Given the description of an element on the screen output the (x, y) to click on. 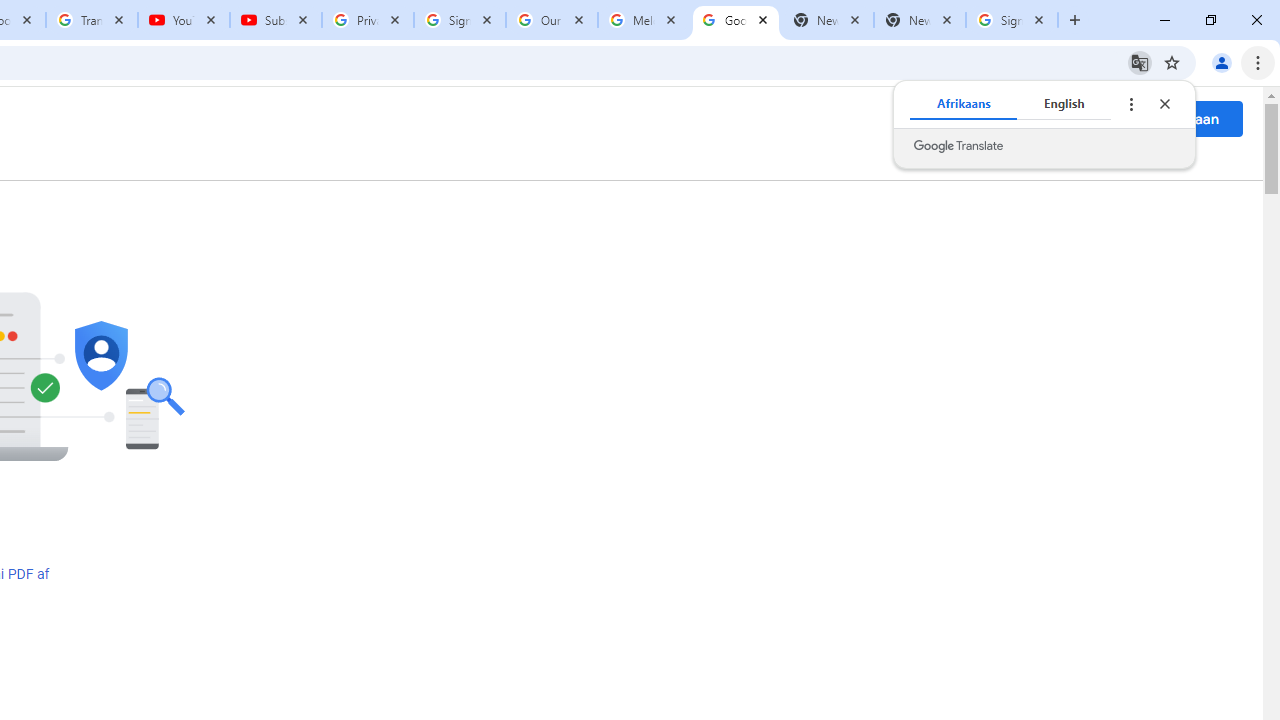
English (1064, 103)
Translate this page (1139, 62)
New Tab (920, 20)
Translate options (1130, 103)
Subscriptions - YouTube (276, 20)
YouTube (184, 20)
Sign in - Google Accounts (459, 20)
